Given the description of an element on the screen output the (x, y) to click on. 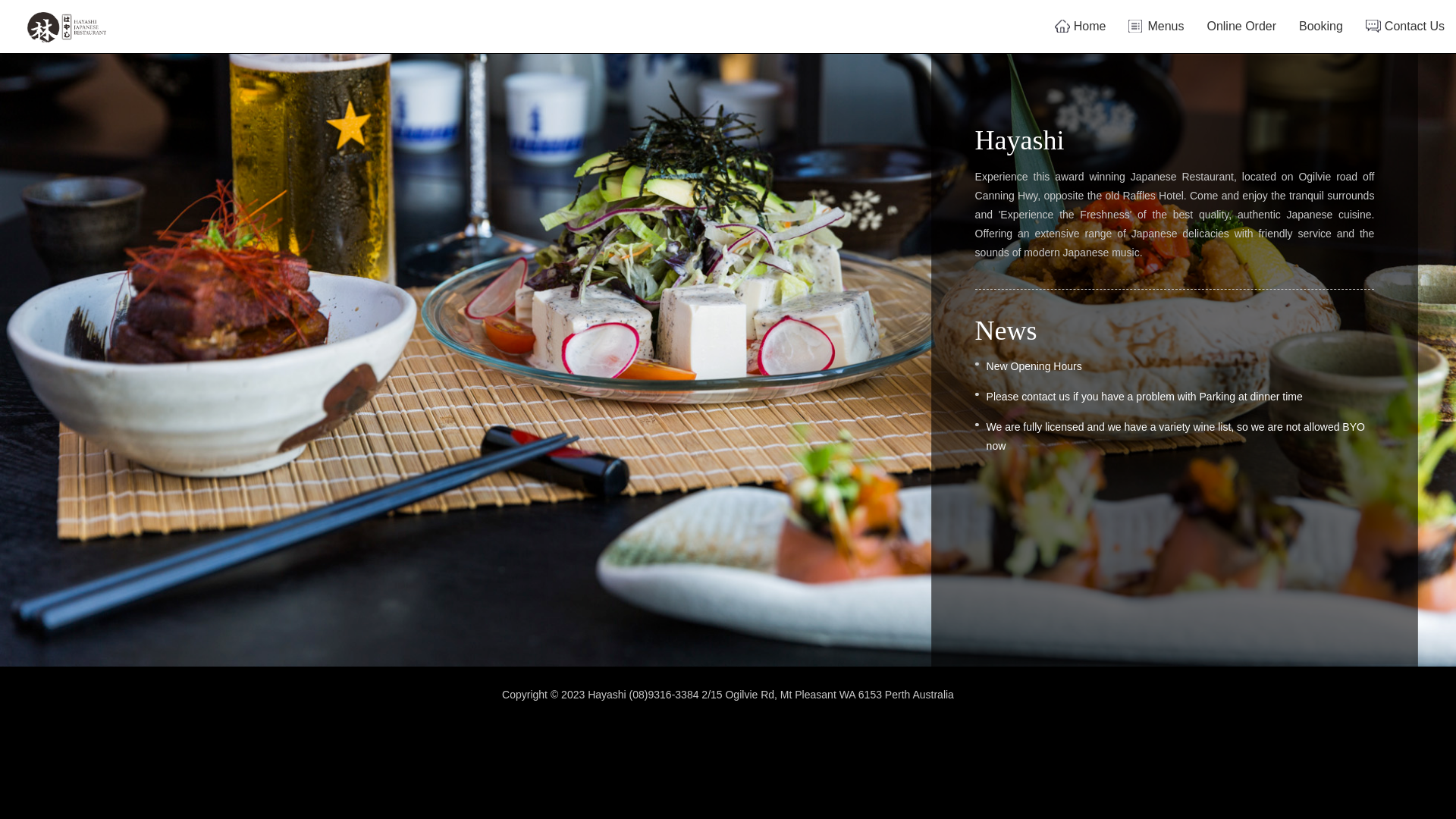
Home Element type: text (1080, 25)
Contact Us Element type: text (1404, 25)
Online Order Element type: text (1241, 25)
Booking Element type: text (1321, 25)
  Element type: hover (66, 27)
Menus Element type: text (1155, 25)
New Opening Hours Element type: text (1034, 366)
